Given the description of an element on the screen output the (x, y) to click on. 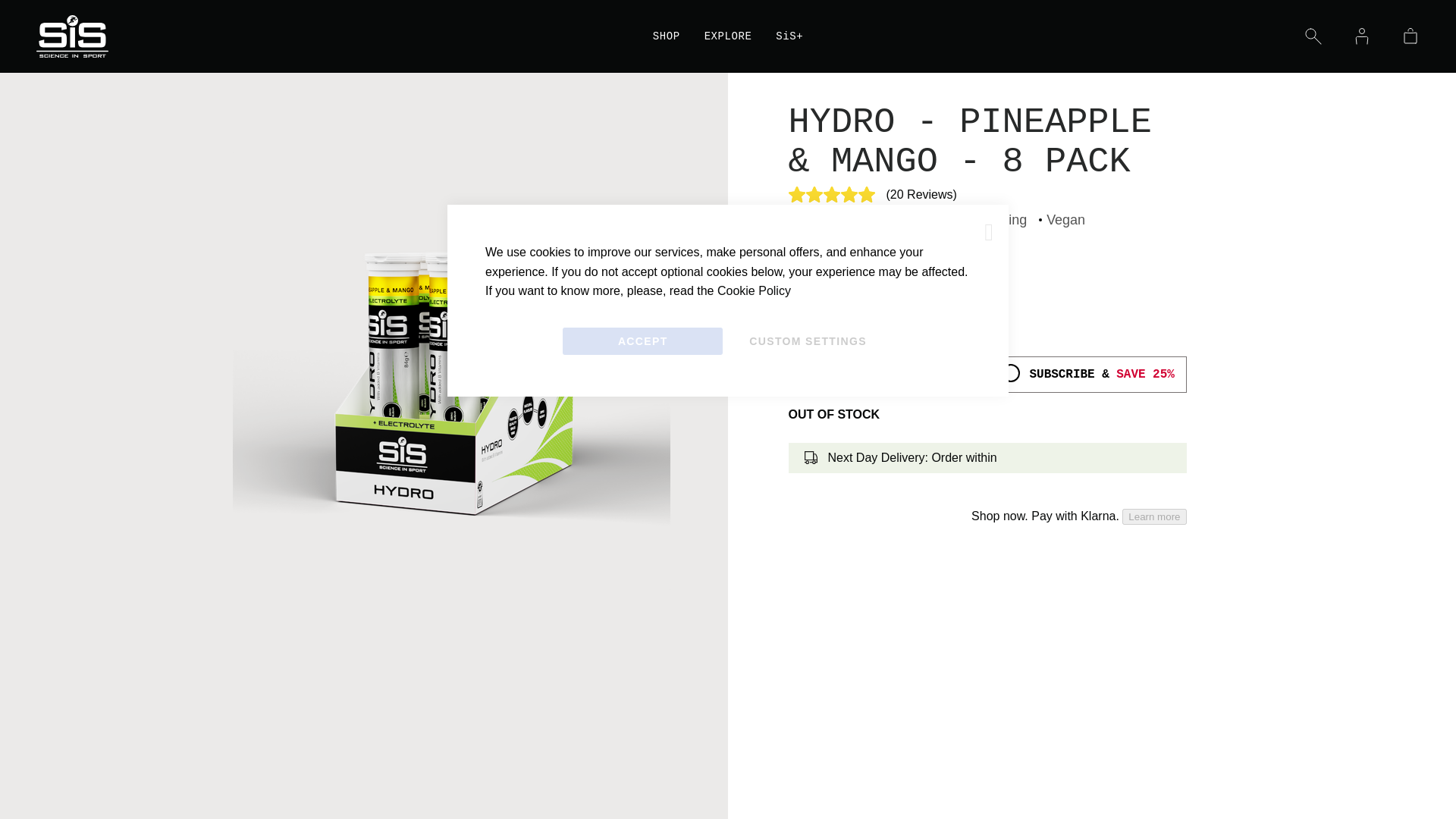
CUSTOM SETTINGS (807, 340)
Search (1313, 36)
Cookie Policy (753, 290)
SiS Science in Sport Logo (71, 36)
ACCEPT (642, 340)
SiS Science in Sport Logo (174, 36)
Cookie Policy (753, 290)
EXPLORE (728, 36)
